Given the description of an element on the screen output the (x, y) to click on. 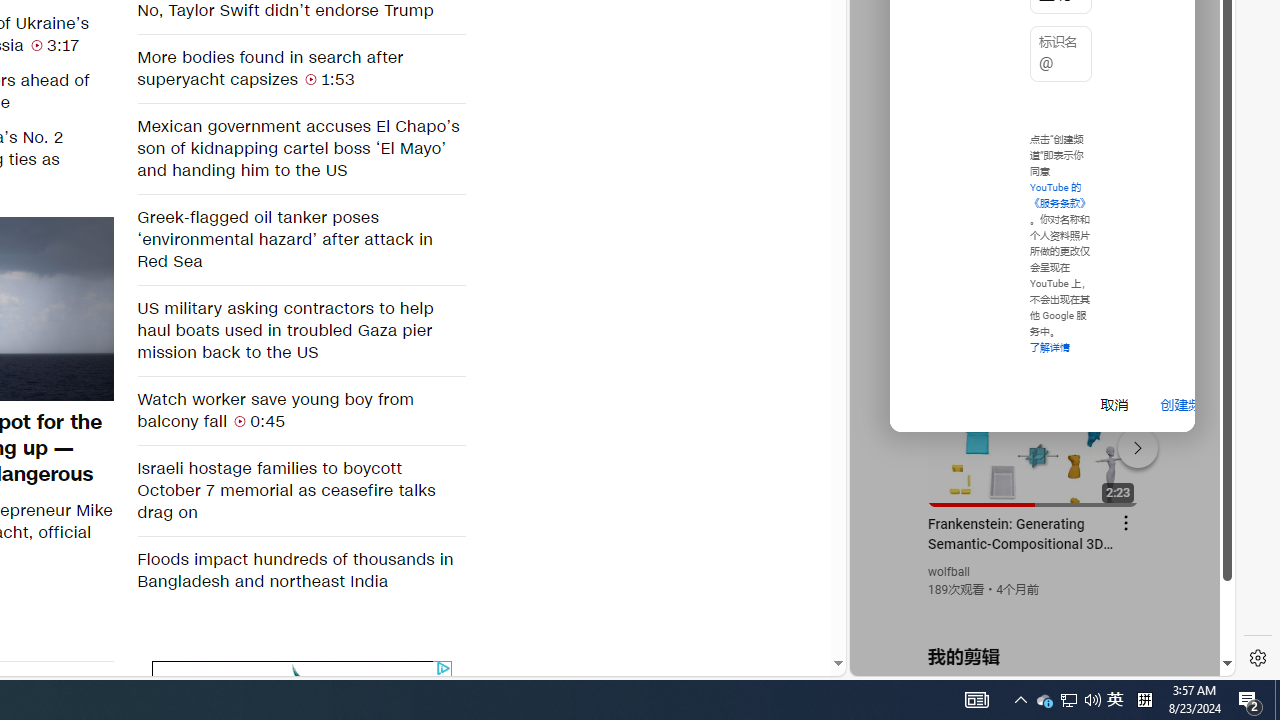
YouTube - YouTube (1034, 266)
you (1034, 609)
wolfball (949, 572)
More bodies found in search after superyacht capsizes 1:53 (300, 68)
